Given the description of an element on the screen output the (x, y) to click on. 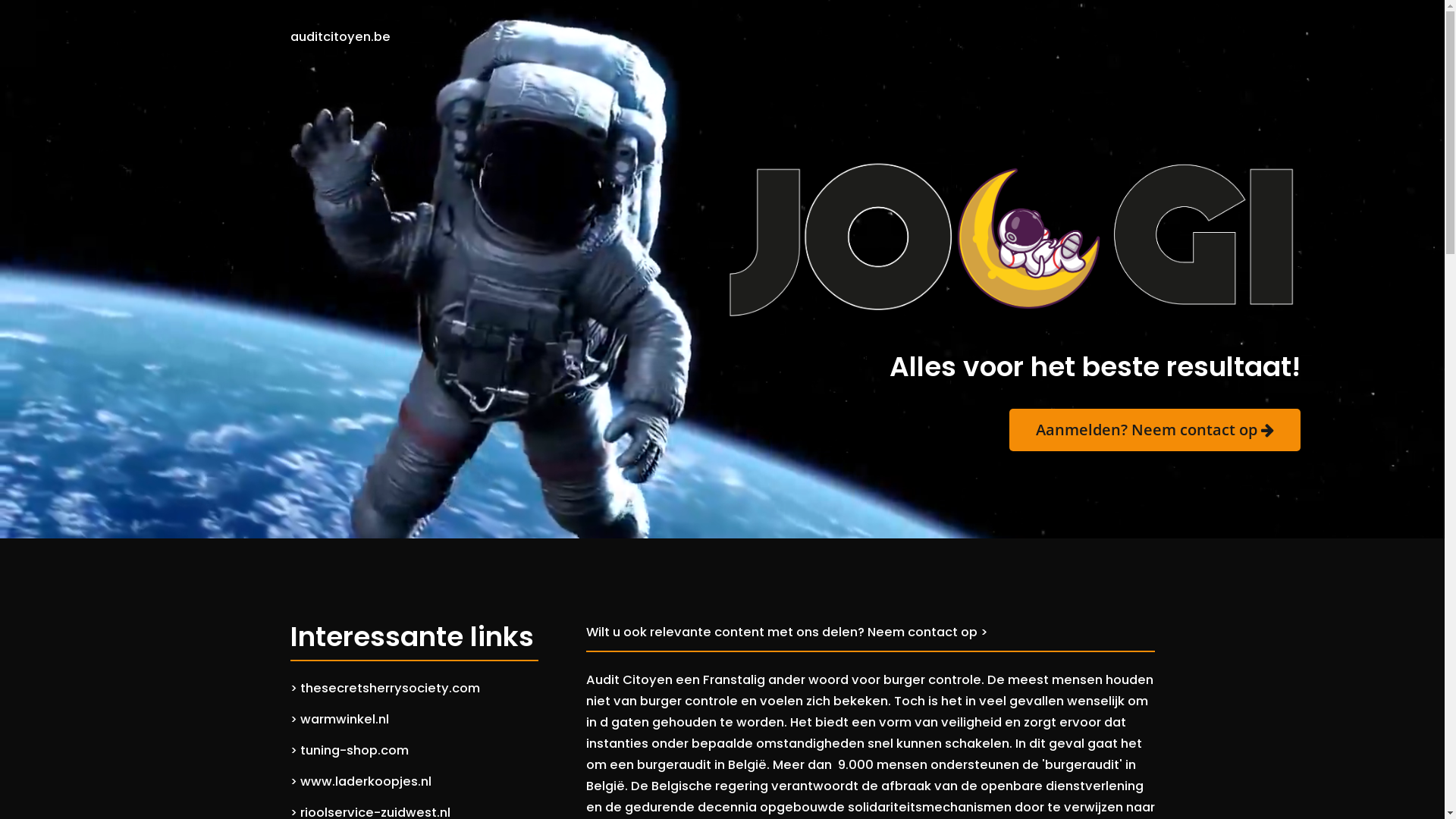
Neem contact op > Element type: text (927, 631)
www.laderkoopjes.nl Element type: text (365, 781)
thesecretsherrysociety.com Element type: text (390, 687)
tuning-shop.com Element type: text (354, 749)
Aanmelden? Neem contact op Element type: text (1153, 429)
warmwinkel.nl Element type: text (344, 719)
